Given the description of an element on the screen output the (x, y) to click on. 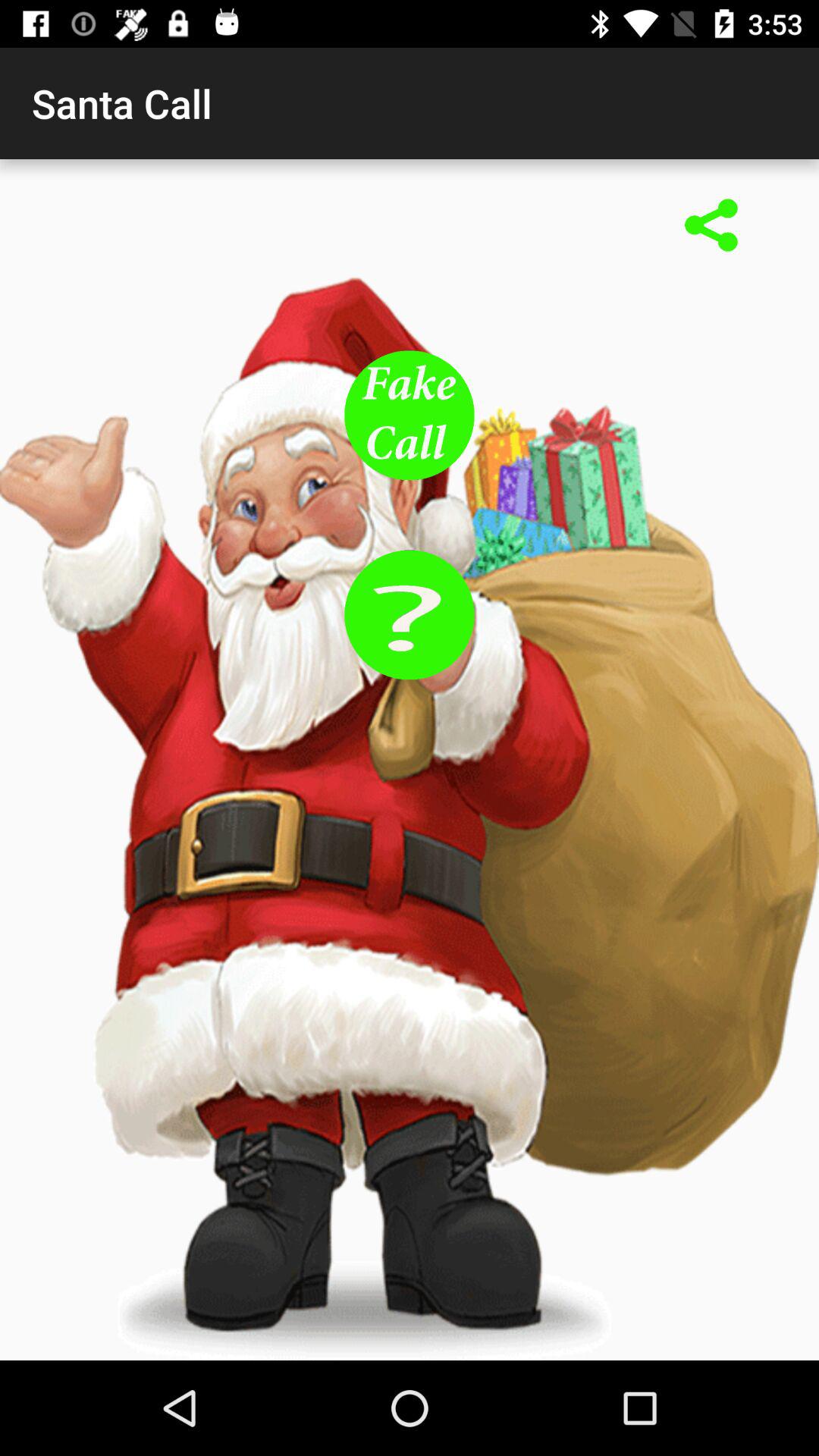
menu page (409, 415)
